Given the description of an element on the screen output the (x, y) to click on. 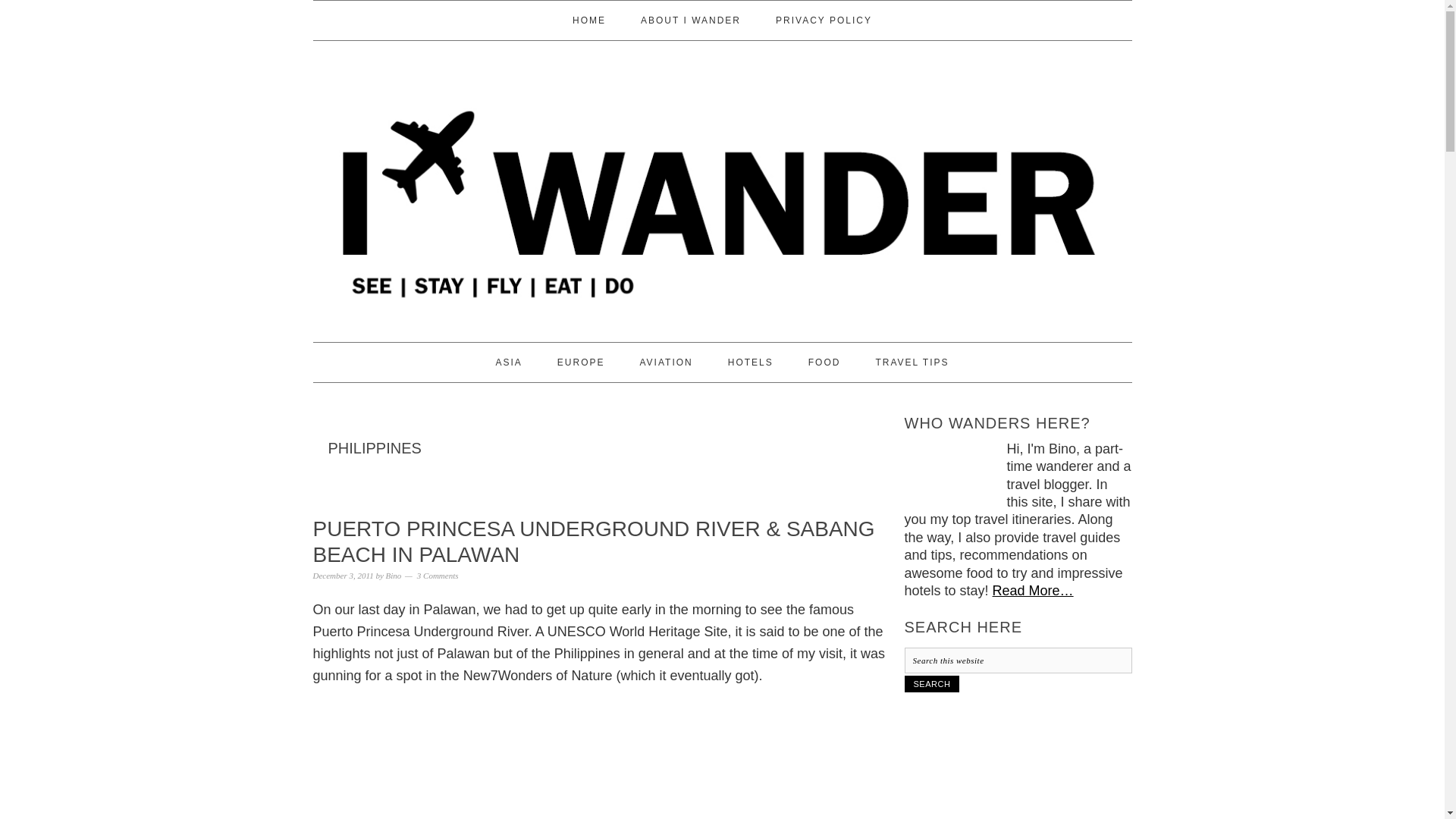
TRAVEL TIPS (912, 362)
3 Comments (437, 574)
Search (931, 683)
HOTELS (750, 362)
PRIVACY POLICY (823, 20)
ASIA (508, 362)
ABOUT I WANDER (690, 20)
AVIATION (666, 362)
EUROPE (580, 362)
HOME (589, 20)
Search (931, 683)
FOOD (824, 362)
Bino (393, 574)
